Given the description of an element on the screen output the (x, y) to click on. 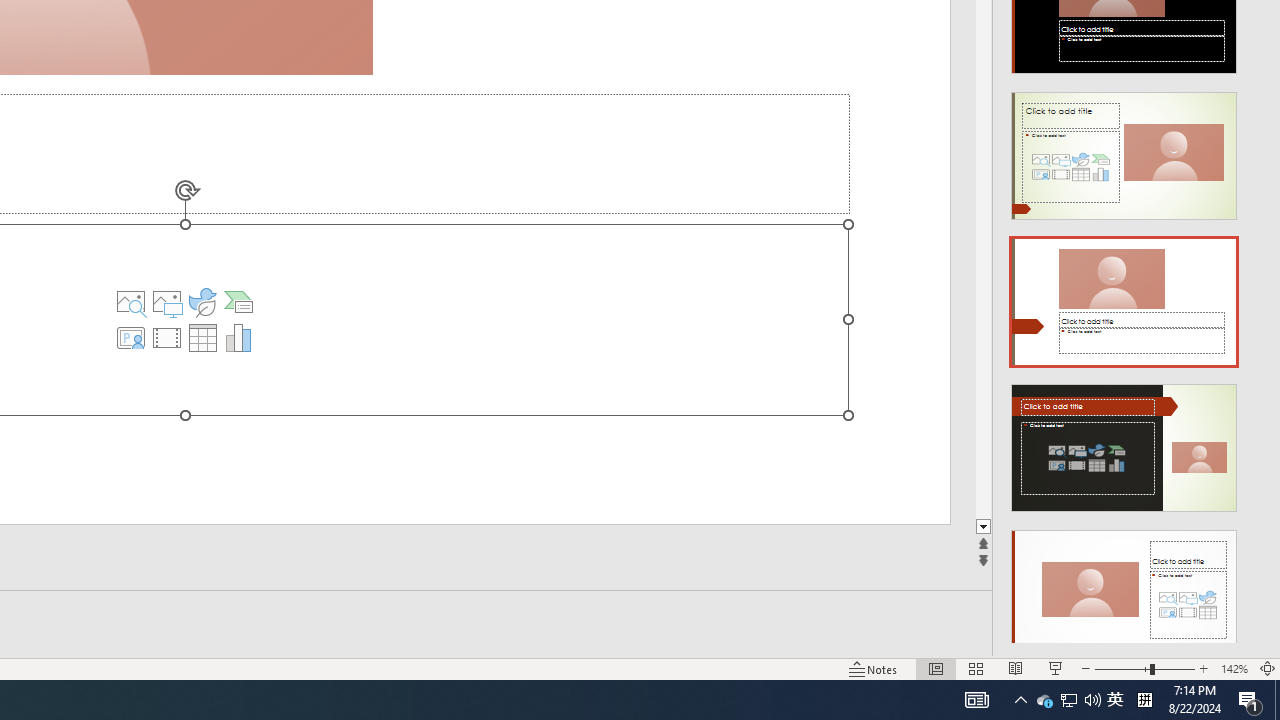
Action Center, 1 new notification (1250, 699)
Insert Chart (238, 337)
Insert a SmartArt Graphic (238, 301)
Tray Input Indicator - Chinese (Simplified, China) (1144, 699)
Show desktop (1277, 699)
Insert an Icon (1044, 699)
Pictures (202, 301)
